Given the description of an element on the screen output the (x, y) to click on. 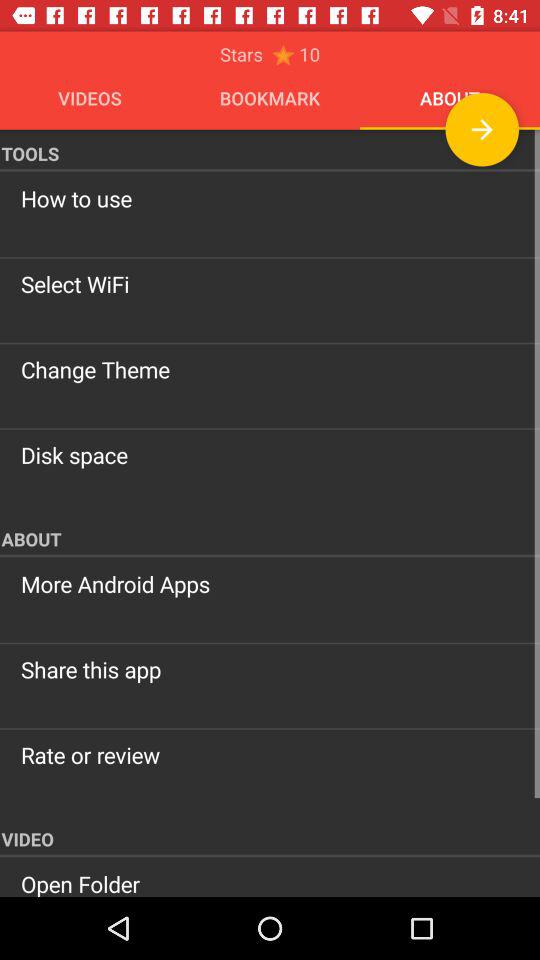
scroll until change theme (270, 369)
